Given the description of an element on the screen output the (x, y) to click on. 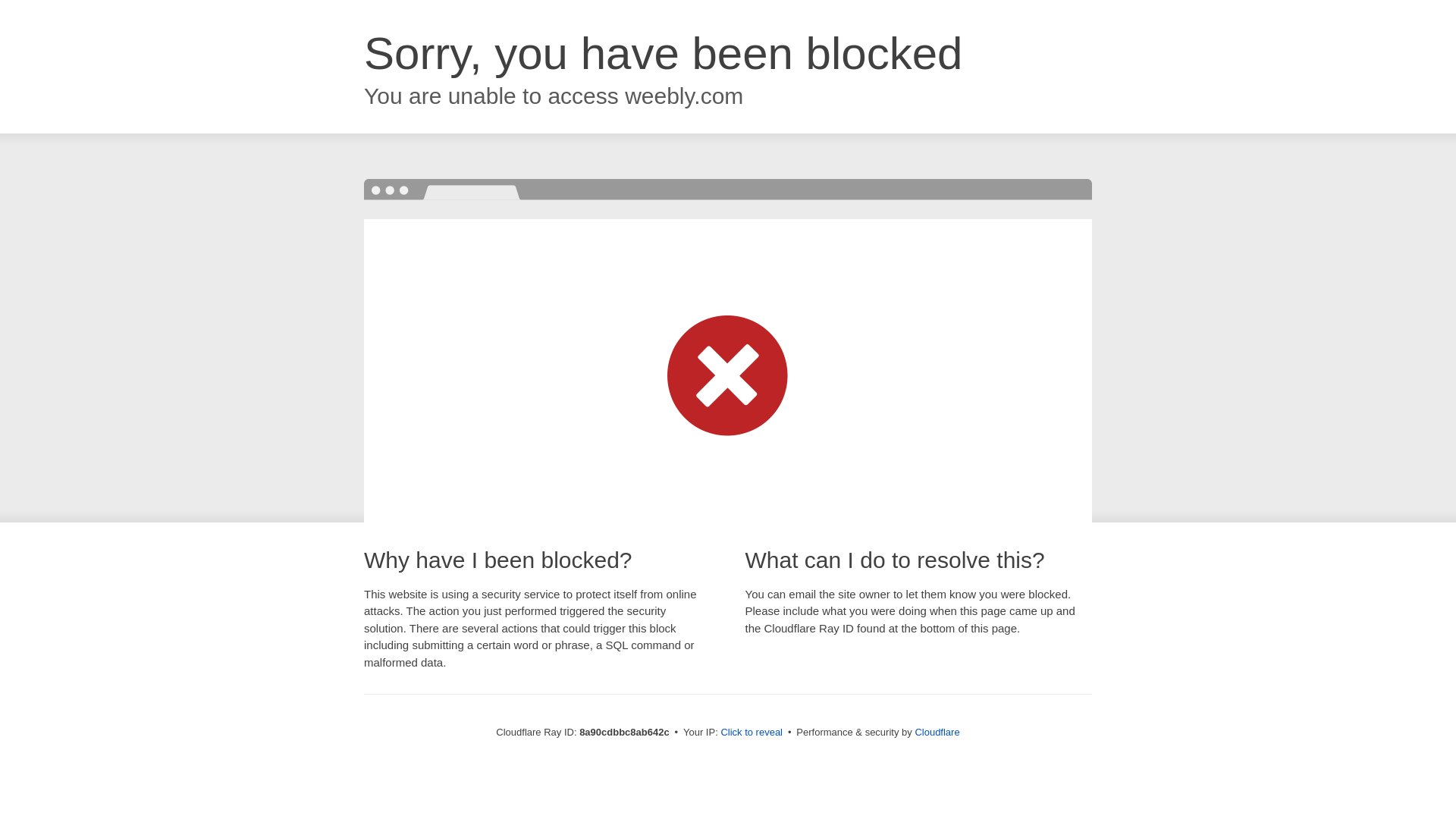
Click to reveal (751, 732)
Cloudflare (936, 731)
